Given the description of an element on the screen output the (x, y) to click on. 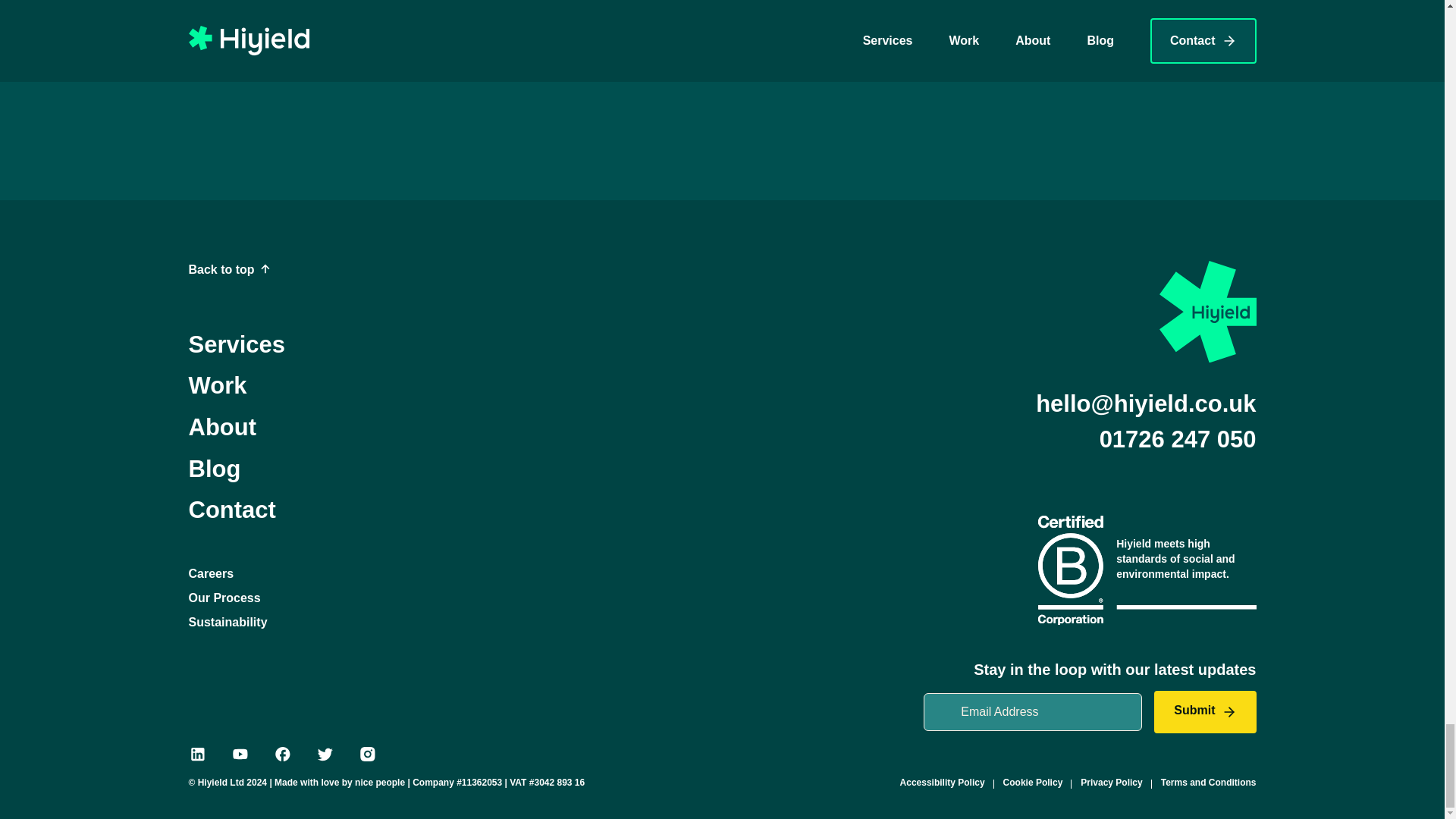
Contact (231, 509)
Services (236, 344)
Blog (213, 468)
Careers (209, 573)
Our Process (223, 597)
Back to top (228, 270)
About (221, 427)
Work (216, 385)
